Given the description of an element on the screen output the (x, y) to click on. 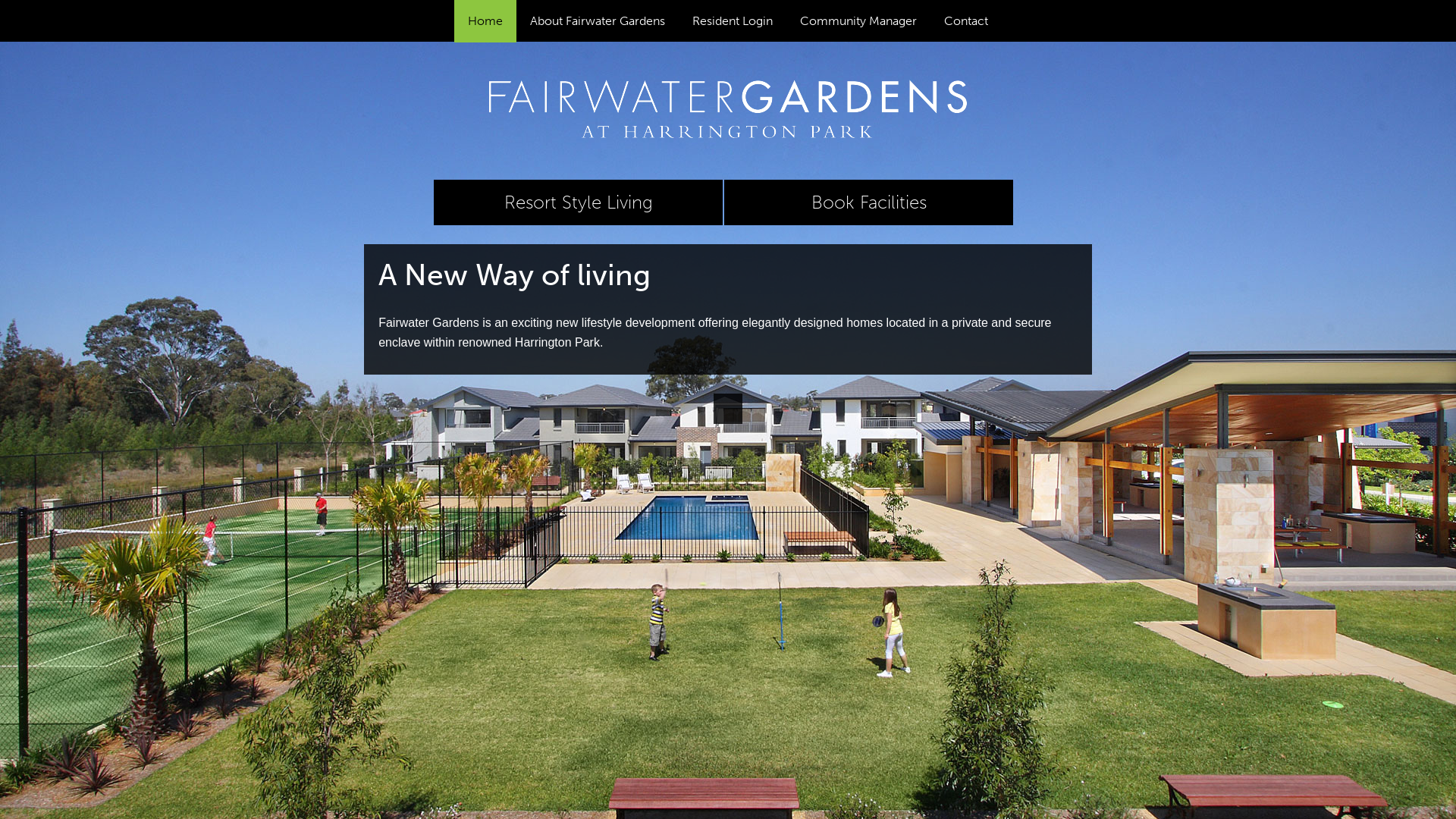
Community Manager Element type: text (858, 21)
Resident Login Element type: text (732, 21)
About Fairwater Gardens Element type: text (597, 21)
Contact Element type: text (965, 21)
Book Facilities Element type: text (868, 202)
Resort Style Living Element type: text (577, 202)
Home Element type: text (485, 21)
